Given the description of an element on the screen output the (x, y) to click on. 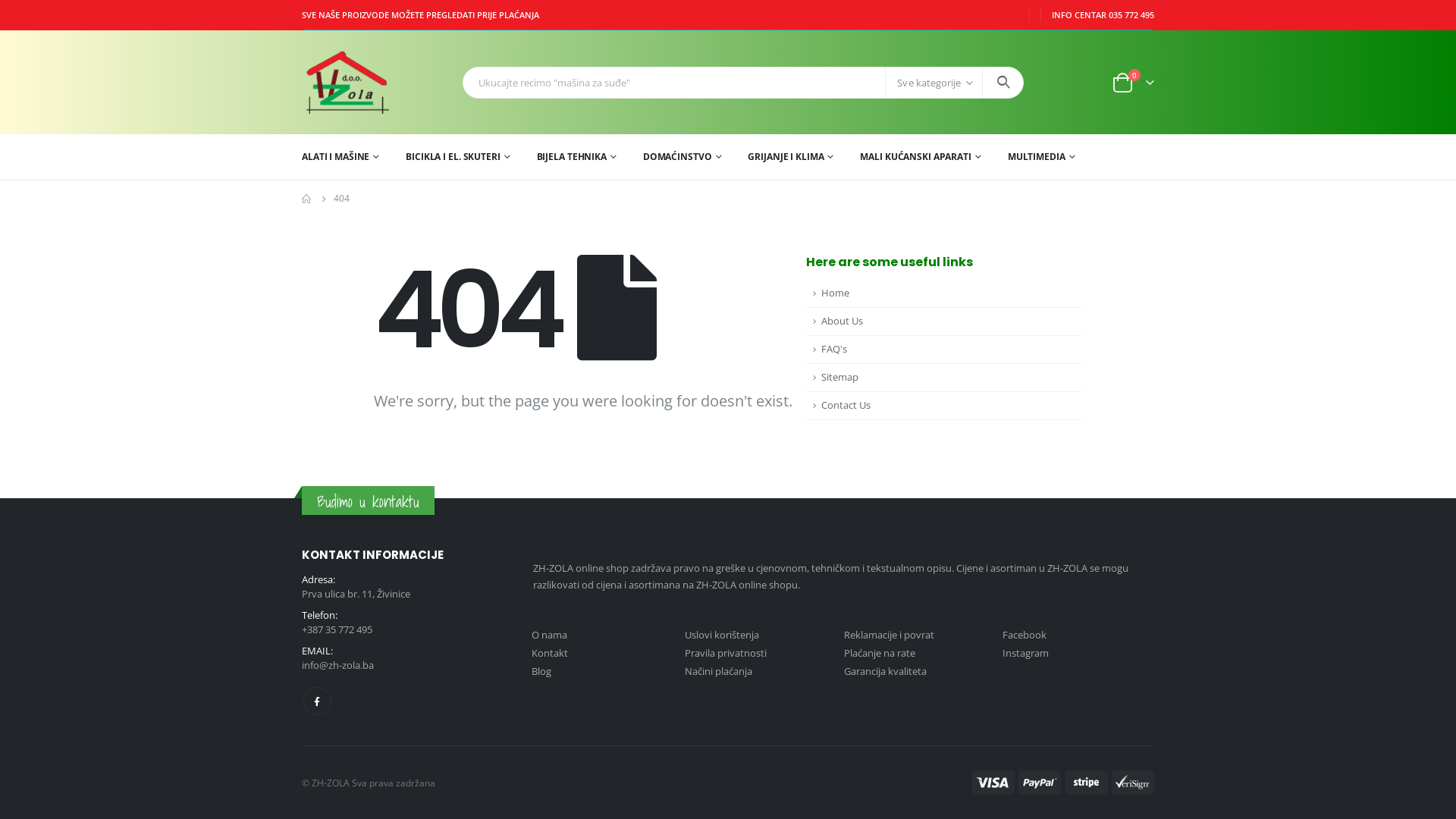
About Us Element type: text (944, 321)
BICIKLA I EL. SKUTERI Element type: text (457, 156)
MULTIMEDIA Element type: text (1041, 156)
Go to Home Page Element type: hover (306, 198)
Blog Element type: text (541, 670)
Home Element type: text (944, 293)
BIJELA TEHNIKA Element type: text (576, 156)
Kontakt Element type: text (549, 652)
Sitemap Element type: text (944, 378)
Facebook Element type: text (317, 701)
ZH Zola - Web shop Element type: hover (362, 81)
Search Element type: hover (1002, 82)
Pravila privatnosti Element type: text (725, 652)
Contact Us Element type: text (944, 406)
O nama Element type: text (549, 634)
FAQ's Element type: text (944, 349)
Facebook Element type: text (1024, 634)
Instagram Element type: text (1025, 652)
info@zh-zola.ba Element type: text (337, 664)
GRIJANJE I KLIMA Element type: text (790, 156)
